Given the description of an element on the screen output the (x, y) to click on. 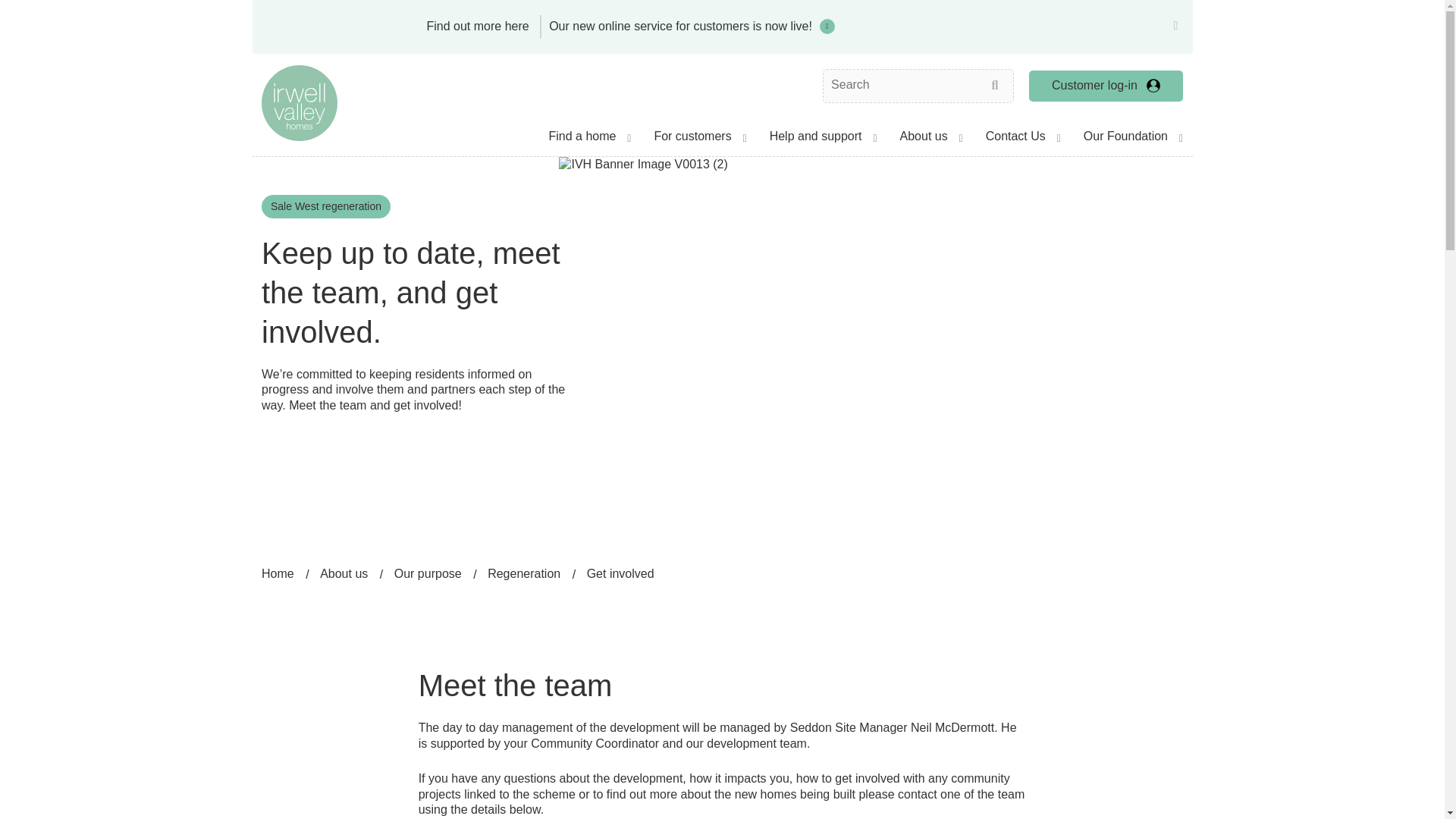
For customers (699, 140)
Home (299, 101)
For customers (699, 140)
Find a home (589, 140)
Dismiss Alert (1175, 25)
Our new online service for customers is now live! (687, 26)
Find a home (589, 140)
